Given the description of an element on the screen output the (x, y) to click on. 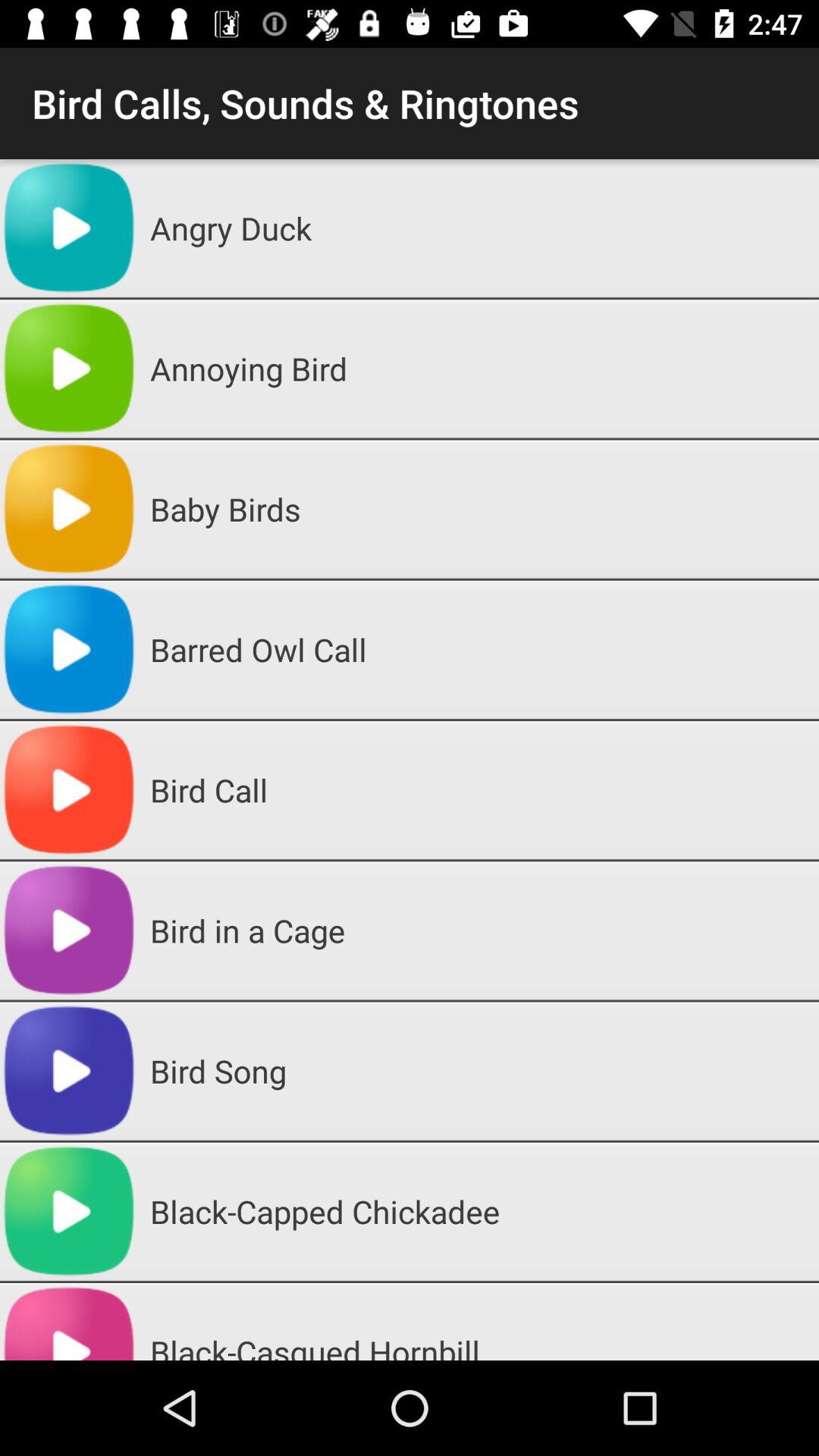
jump until bird song app (478, 1071)
